Given the description of an element on the screen output the (x, y) to click on. 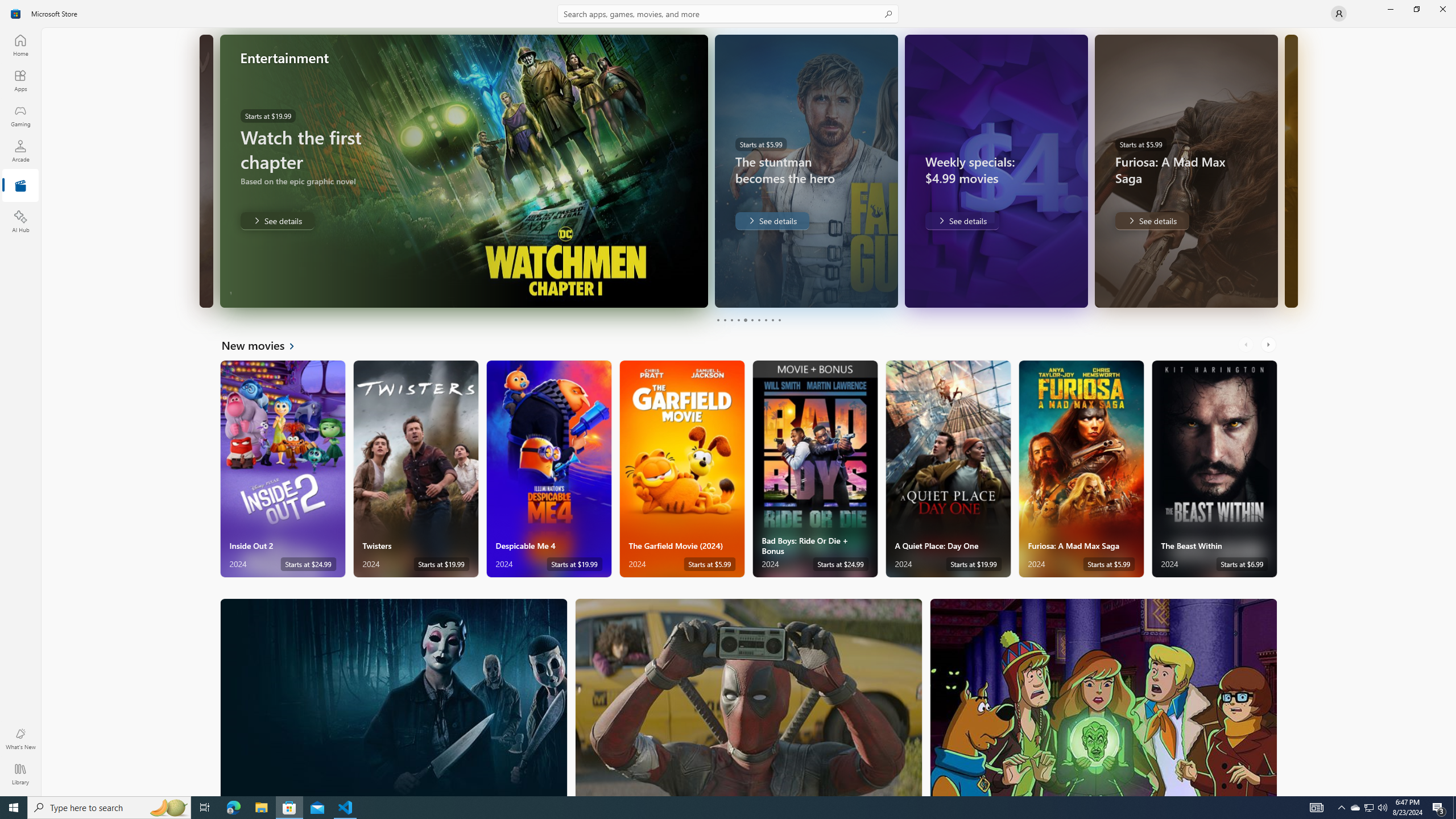
Home (20, 45)
